Given the description of an element on the screen output the (x, y) to click on. 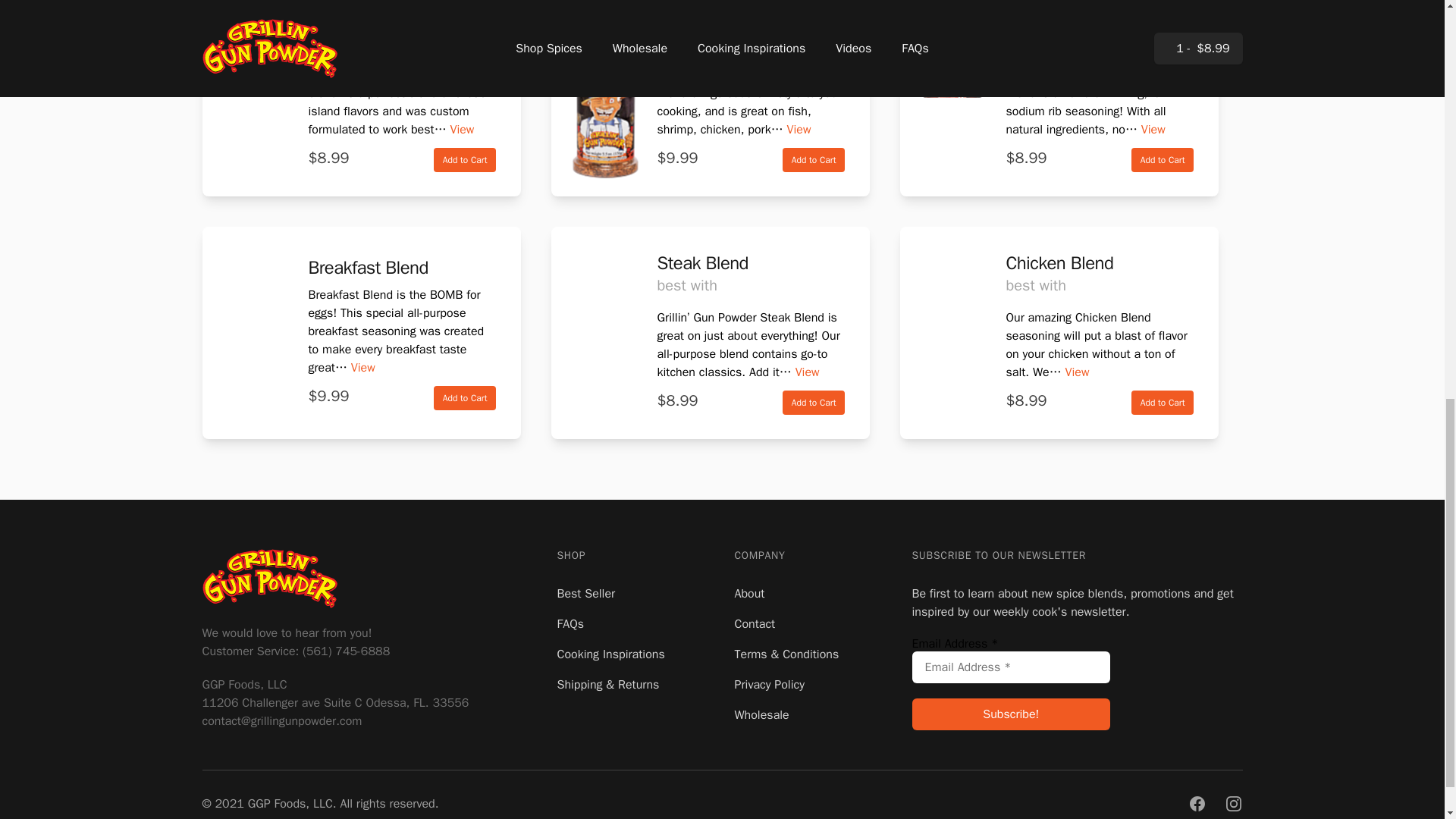
View (461, 129)
Caribbean Blend (369, 20)
Add to Cart (464, 397)
Rib Rub Blend (1059, 20)
Add to Cart (464, 159)
Add to Cart (814, 159)
View (1153, 129)
Subscribe! (1010, 714)
View (362, 367)
Add to Cart (1162, 159)
